Given the description of an element on the screen output the (x, y) to click on. 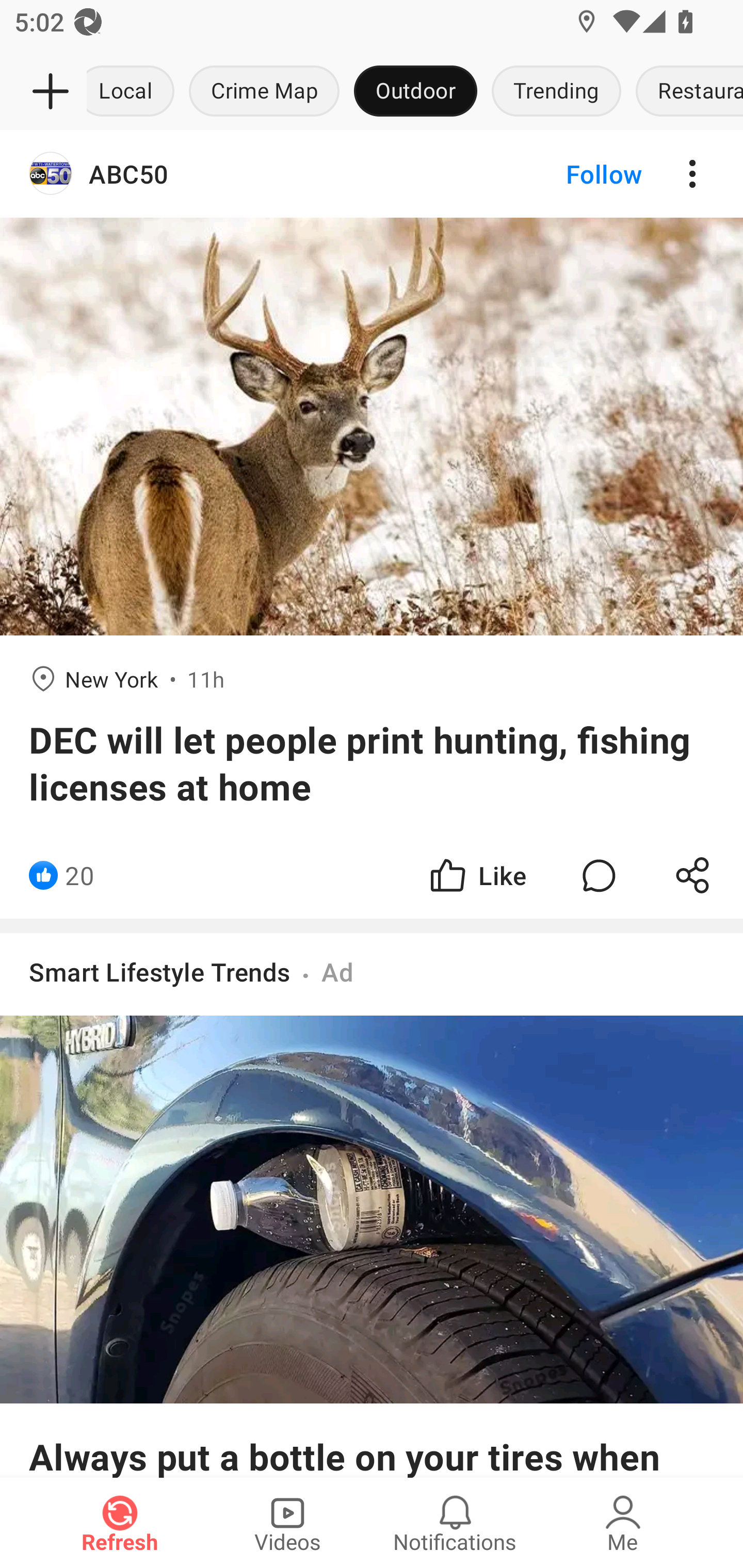
Local (133, 91)
Crime Map (263, 91)
Outdoor (415, 91)
Trending (556, 91)
ABC50 Follow (371, 173)
Follow (569, 173)
20 (79, 875)
Like (476, 875)
Smart Lifestyle Trends (159, 971)
Videos (287, 1522)
Notifications (455, 1522)
Me (622, 1522)
